Given the description of an element on the screen output the (x, y) to click on. 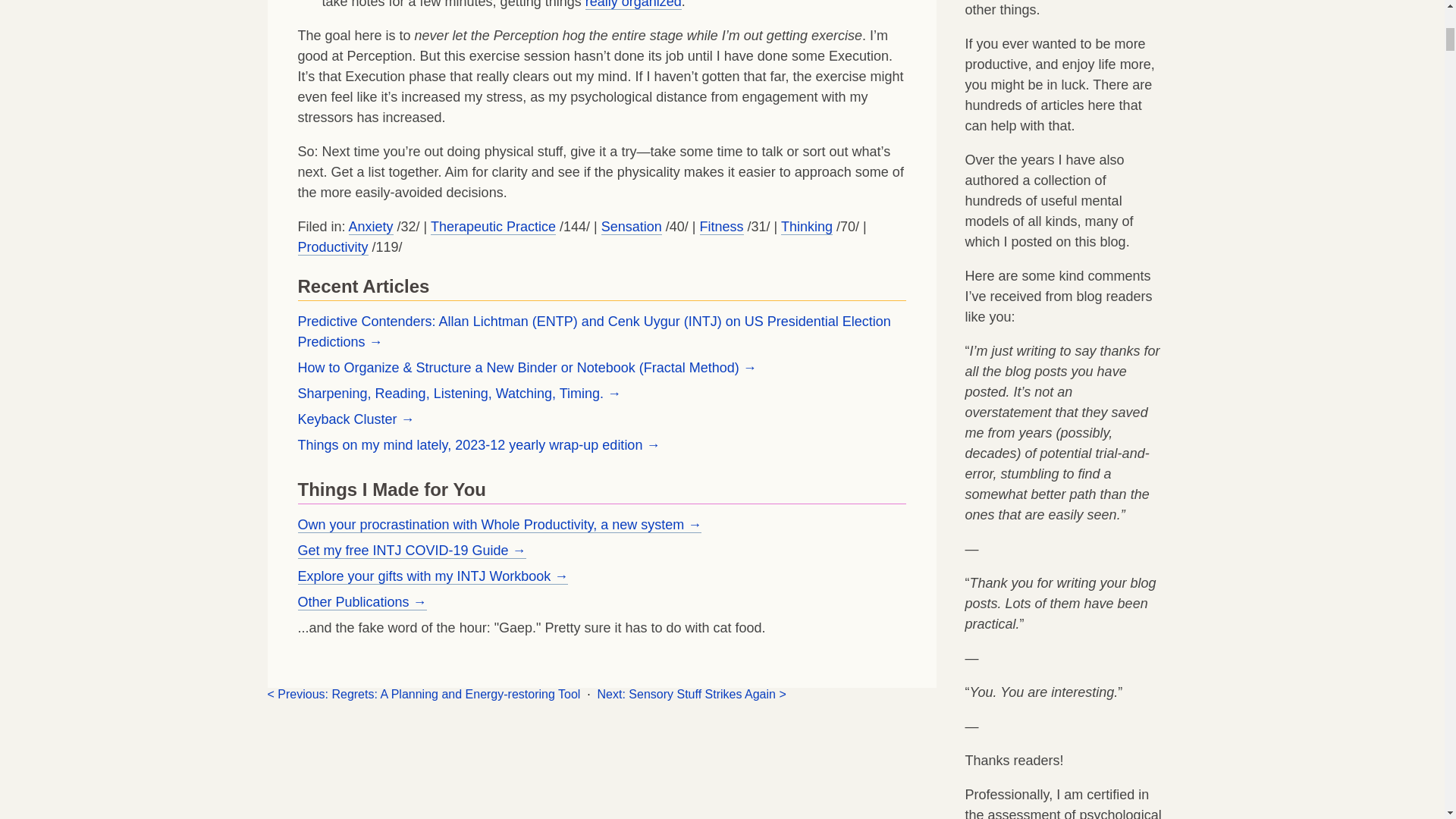
Therapeutic Practice (493, 227)
Fitness (722, 227)
Thinking (806, 227)
Anxiety (371, 227)
Sensation (631, 227)
Some Updates and Business Tips (424, 694)
Productivity (332, 247)
really organized (633, 4)
